Given the description of an element on the screen output the (x, y) to click on. 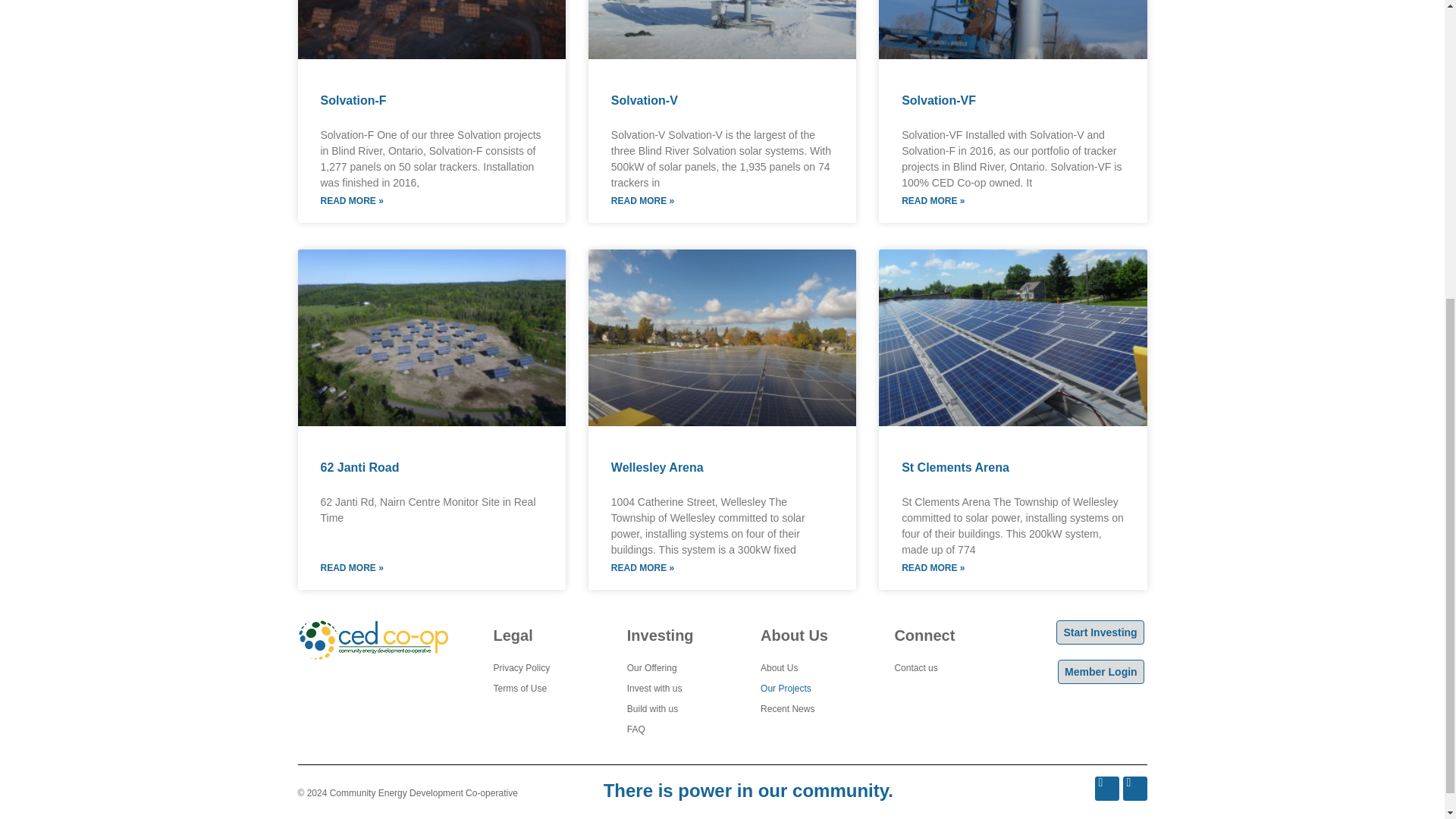
Privacy Policy (536, 668)
FAQ (670, 729)
Solvation-V (644, 100)
Build with us (670, 709)
62 Janti Road (359, 467)
Invest with us (670, 688)
Terms of Use (536, 688)
Our Offering (670, 668)
Solvation-VF (938, 100)
St Clements Arena (955, 467)
Wellesley Arena (657, 467)
Solvation-F (352, 100)
